Given the description of an element on the screen output the (x, y) to click on. 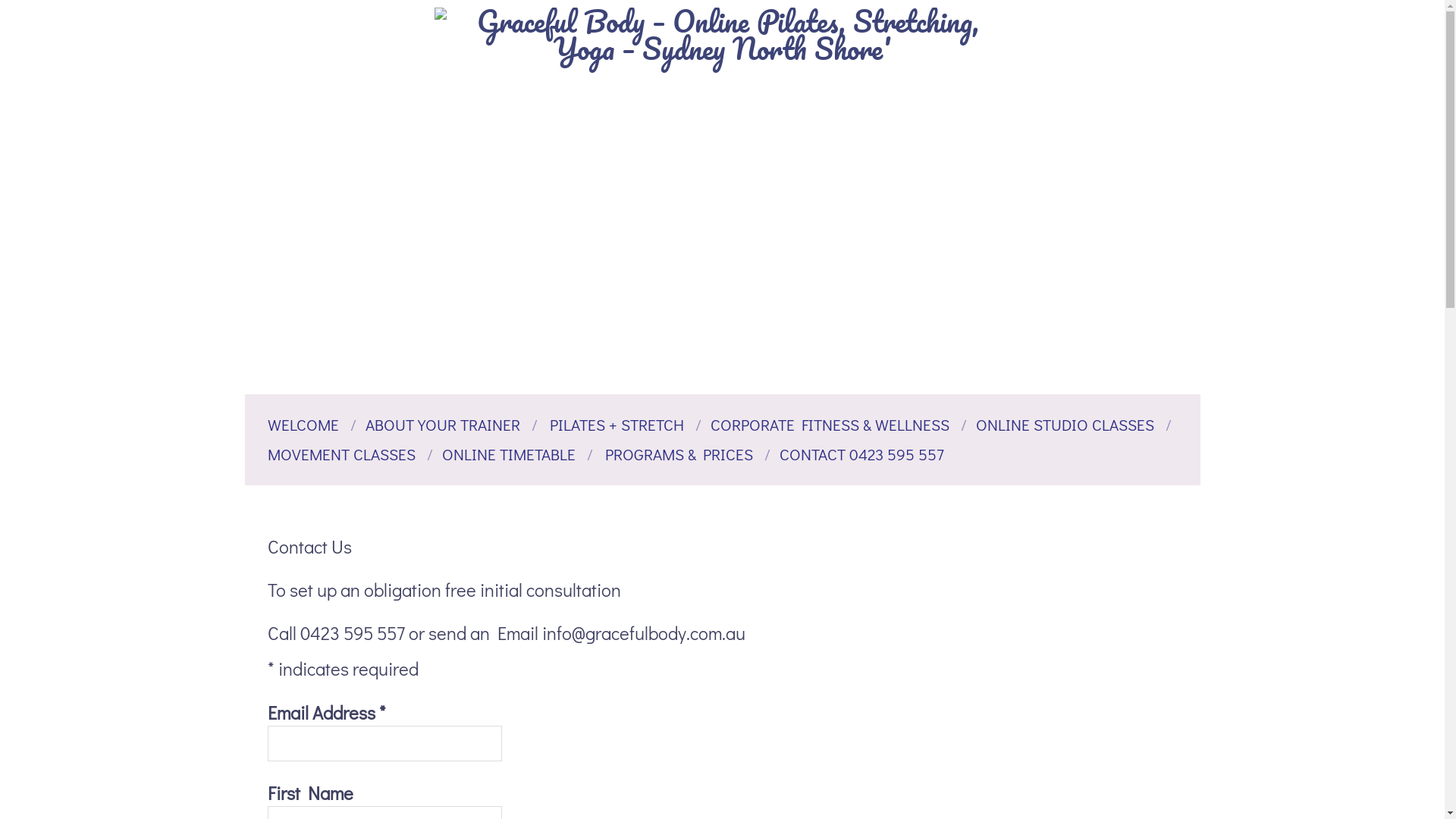
ONLINE STUDIO CLASSES Element type: text (1064, 424)
PILATES + STRETCH Element type: text (616, 424)
MOVEMENT CLASSES Element type: text (340, 453)
WELCOME Element type: text (302, 424)
ONLINE TIMETABLE Element type: text (507, 453)
CONTACT 0423 595 557 Element type: text (861, 453)
CORPORATE FITNESS & WELLNESS Element type: text (828, 424)
ABOUT YOUR TRAINER Element type: text (442, 424)
Skip to content Element type: text (244, 0)
PROGRAMS & PRICES Element type: text (679, 453)
